Given the description of an element on the screen output the (x, y) to click on. 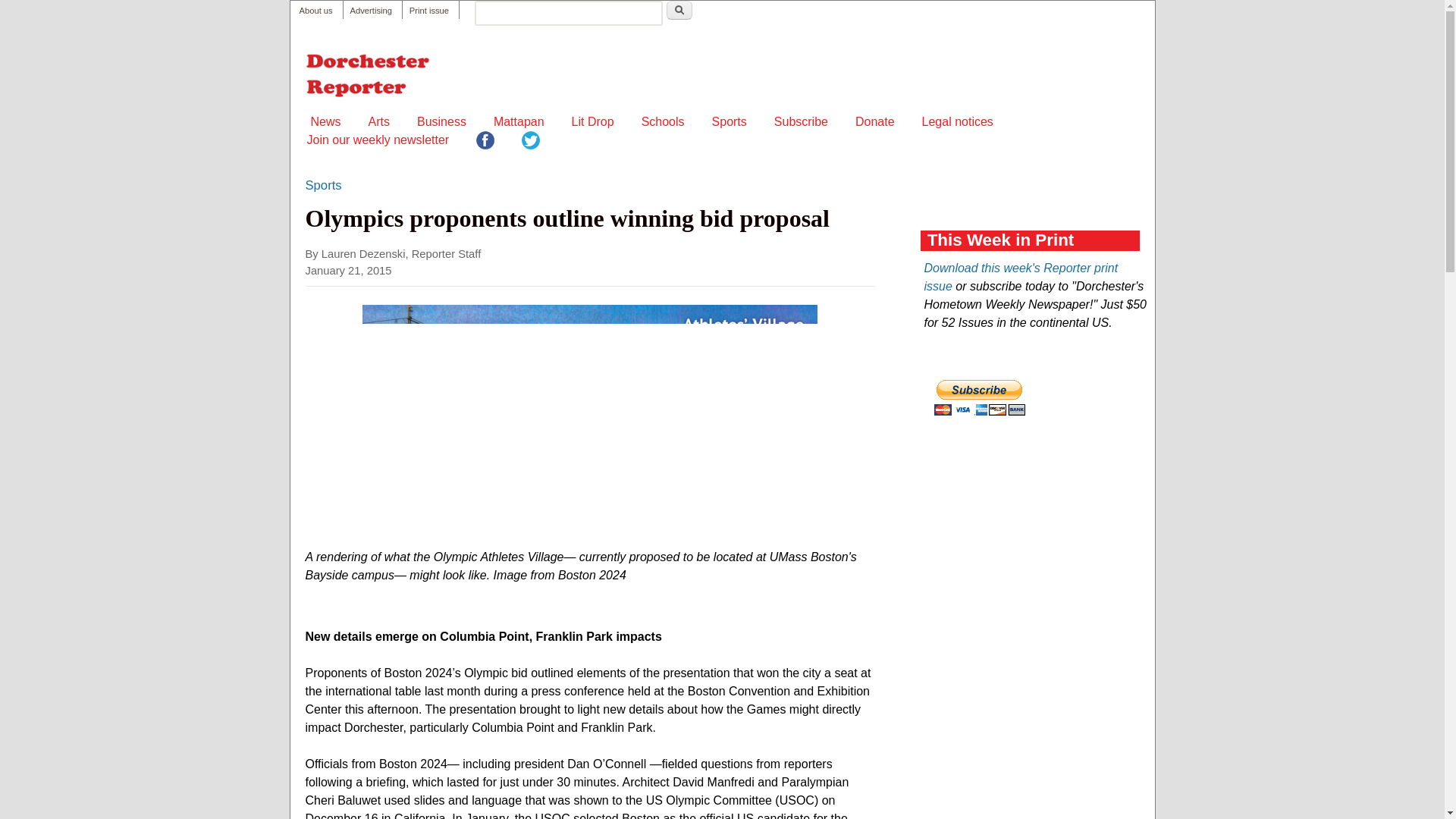
Sports (322, 185)
Reporter on Facebook (485, 142)
About us (315, 10)
Arts (379, 122)
Print issue (428, 10)
Lit Drop (593, 122)
Schools (662, 122)
The DotNews Twitter feed (530, 142)
Search (679, 9)
News (325, 122)
Donate (874, 122)
Join our weekly newsletter (376, 140)
Download this week's Reporter print issue (1020, 276)
Mattapan (518, 122)
